Given the description of an element on the screen output the (x, y) to click on. 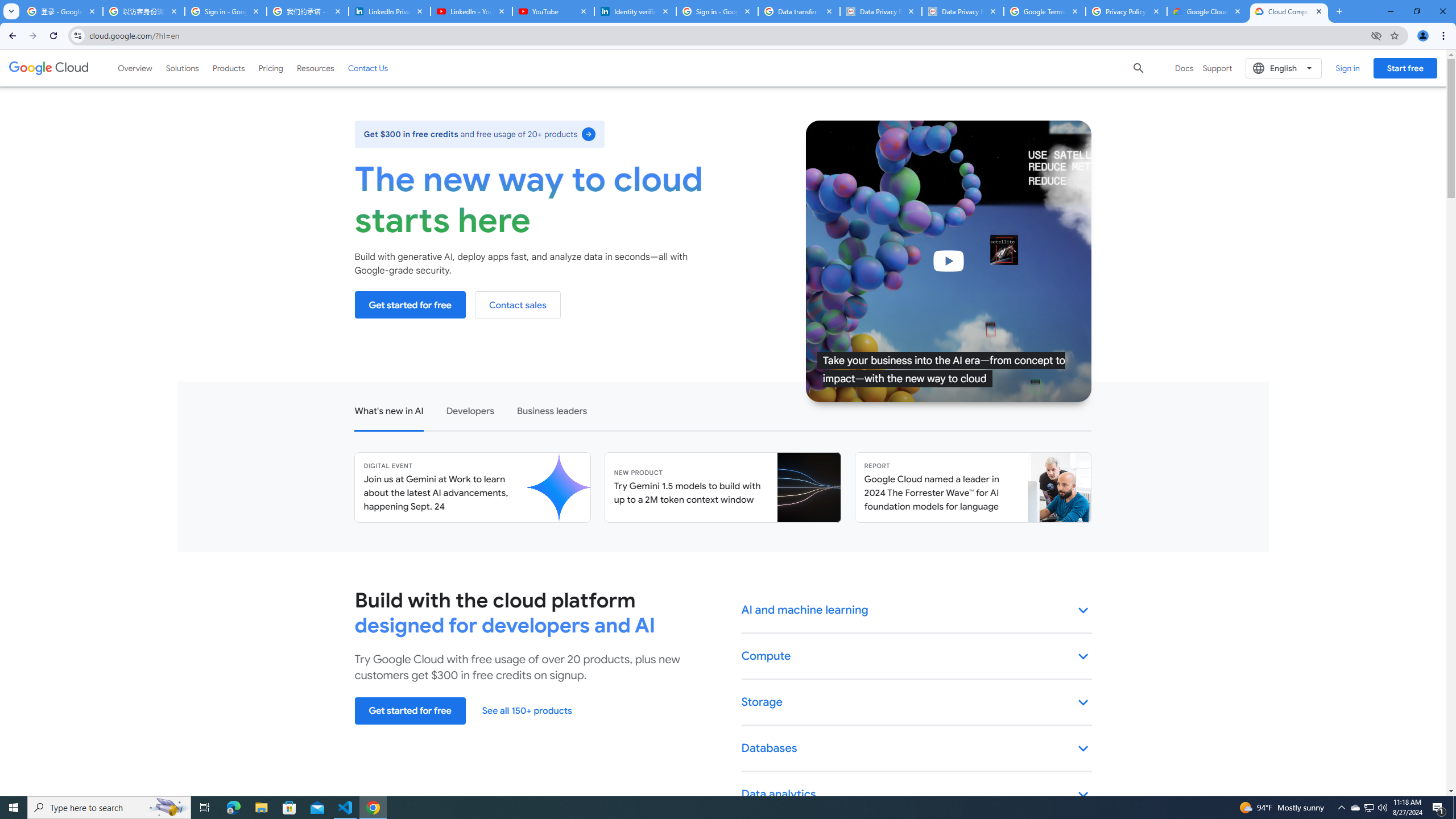
Contact sales (517, 304)
Databases keyboard_arrow_down (916, 748)
Resources (314, 67)
Docs (1183, 67)
Get started for free (409, 710)
Storage keyboard_arrow_down (916, 702)
Google Cloud Privacy Notice (1207, 11)
Cloud Computing Services | Google Cloud (1289, 11)
Developers (469, 409)
